Given the description of an element on the screen output the (x, y) to click on. 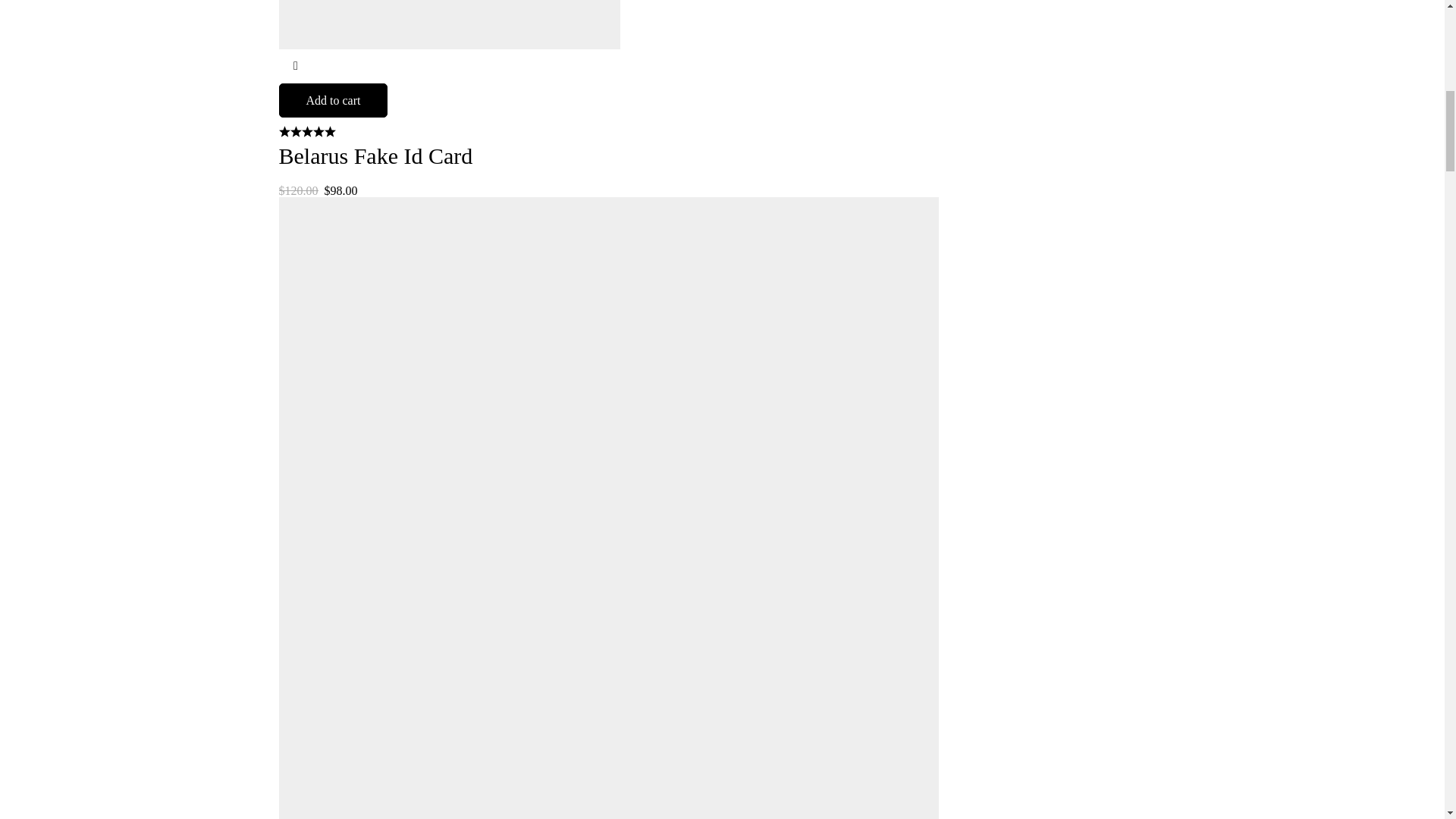
Belarus Fake Id Card (376, 155)
Add to cart (333, 100)
Quick view (296, 66)
